Given the description of an element on the screen output the (x, y) to click on. 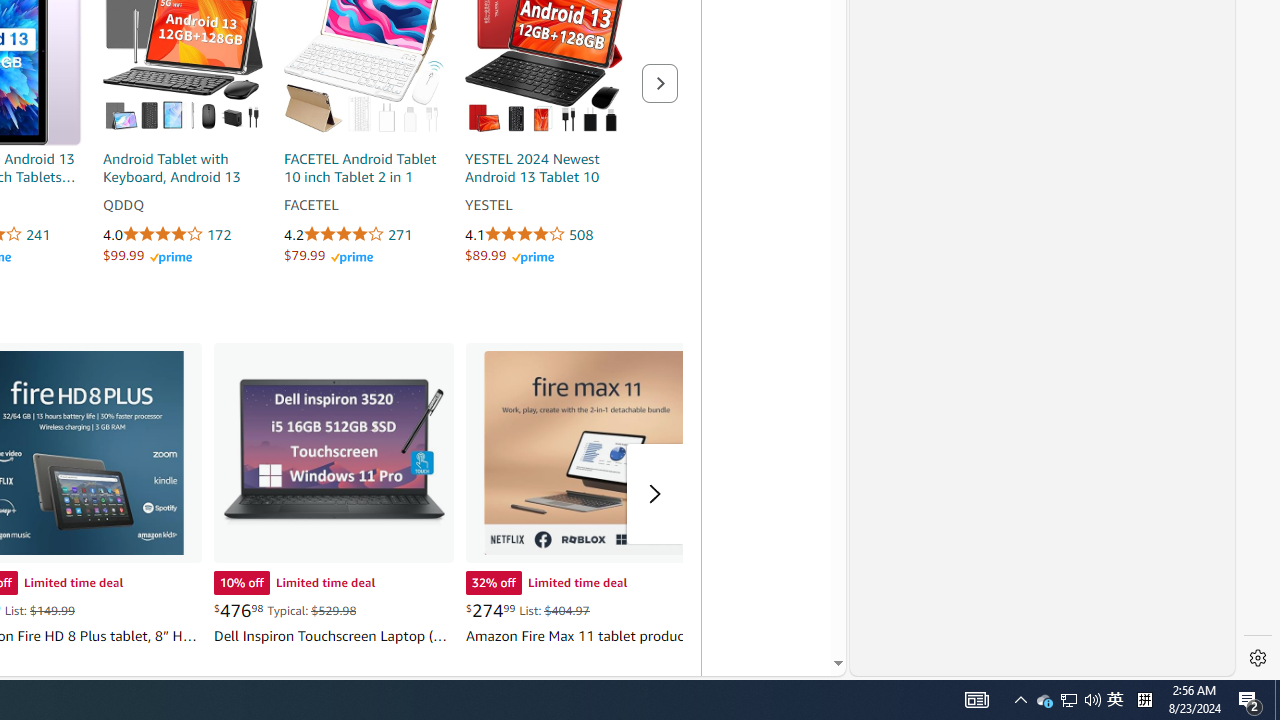
Amazon Prime (532, 257)
4.1 out of 5 stars 508 ratings (544, 235)
FACETEL (364, 205)
